Given the description of an element on the screen output the (x, y) to click on. 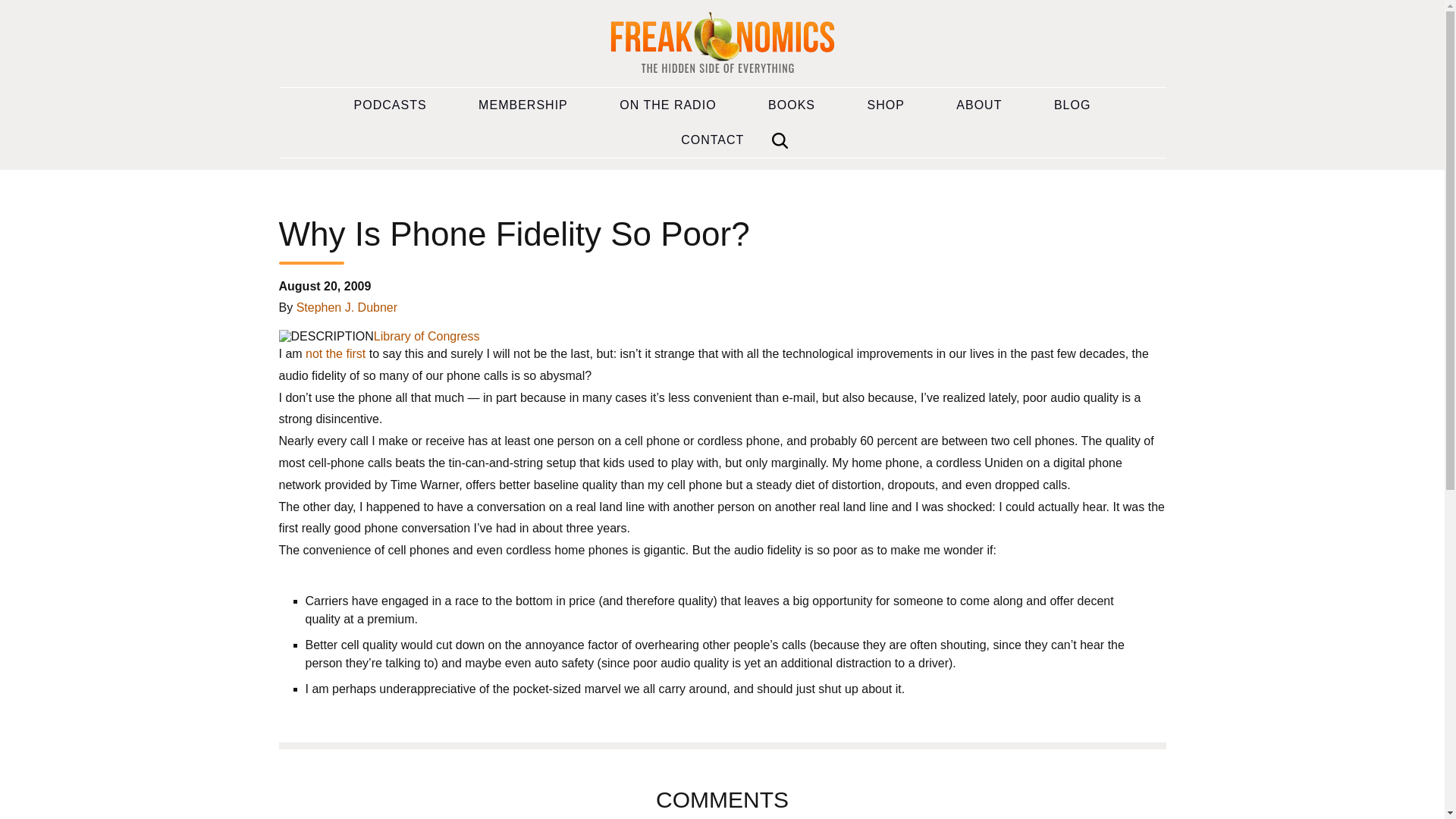
the (334, 353)
Library of Congress (427, 336)
PODCASTS (390, 104)
ABOUT (978, 104)
Stephen J. Dubner (347, 307)
MEMBERSHIP (523, 104)
BLOG (1072, 104)
first (355, 353)
SHOP (885, 104)
ON THE RADIO (667, 104)
Return to homepage (722, 43)
not (313, 353)
BOOKS (792, 104)
CONTACT (712, 140)
